Given the description of an element on the screen output the (x, y) to click on. 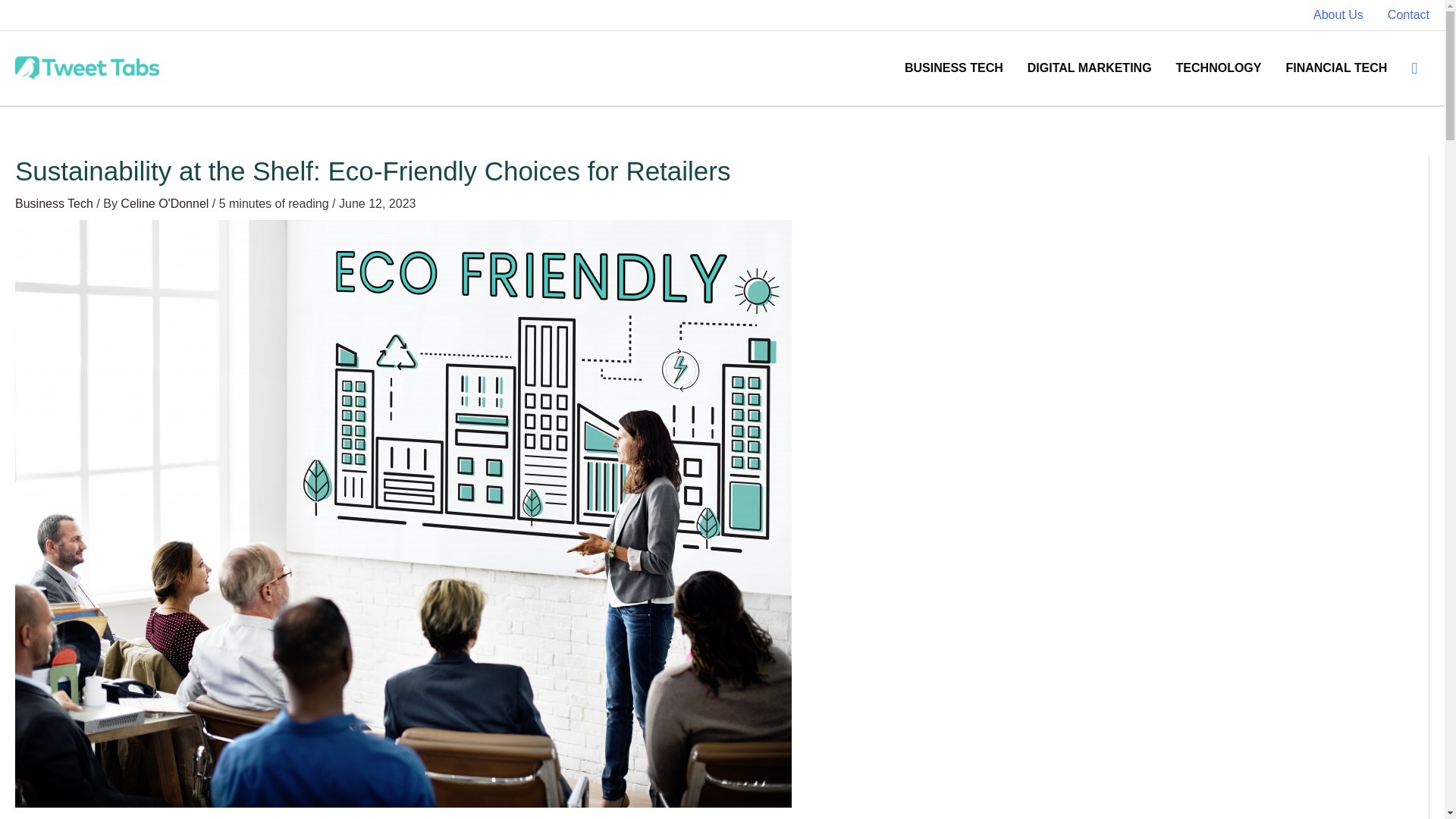
Celine O'Donnel (165, 203)
TECHNOLOGY (1218, 68)
Contact (1402, 15)
View all posts by Celine O'Donnel (165, 203)
About Us (1338, 15)
DIGITAL MARKETING (1088, 68)
BUSINESS TECH (953, 68)
FINANCIAL TECH (1335, 68)
Business Tech (53, 203)
